Given the description of an element on the screen output the (x, y) to click on. 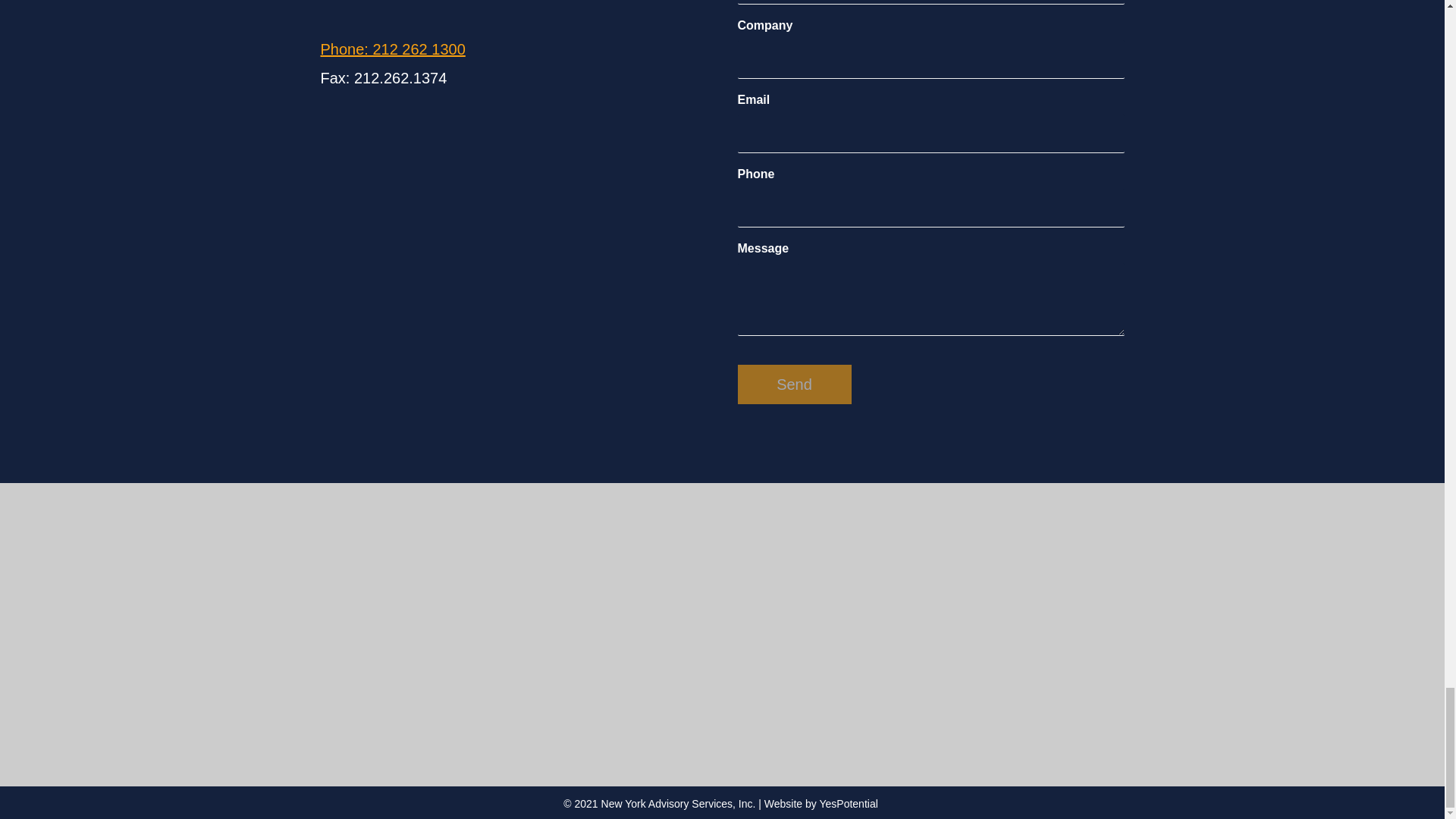
Phone: 212 262 1300 (392, 48)
YesPotential  (849, 803)
Send (793, 384)
Phone: 212 262 1300 (392, 48)
Send (793, 384)
